Given the description of an element on the screen output the (x, y) to click on. 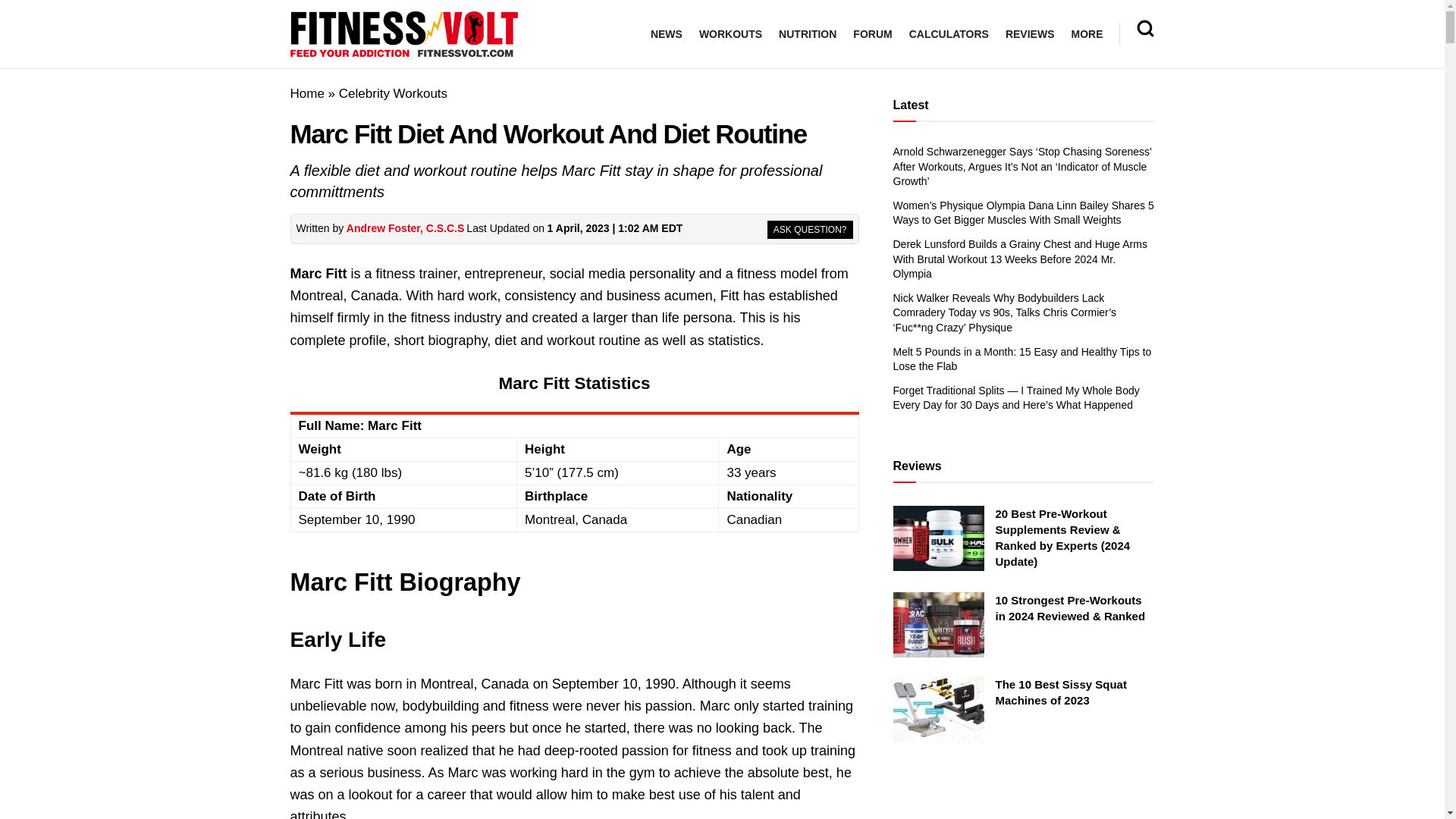
NUTRITION (806, 34)
CALCULATORS (948, 34)
WORKOUTS (729, 34)
FORUM (872, 34)
NEWS (666, 34)
REVIEWS (1030, 34)
MORE (1086, 34)
